Given the description of an element on the screen output the (x, y) to click on. 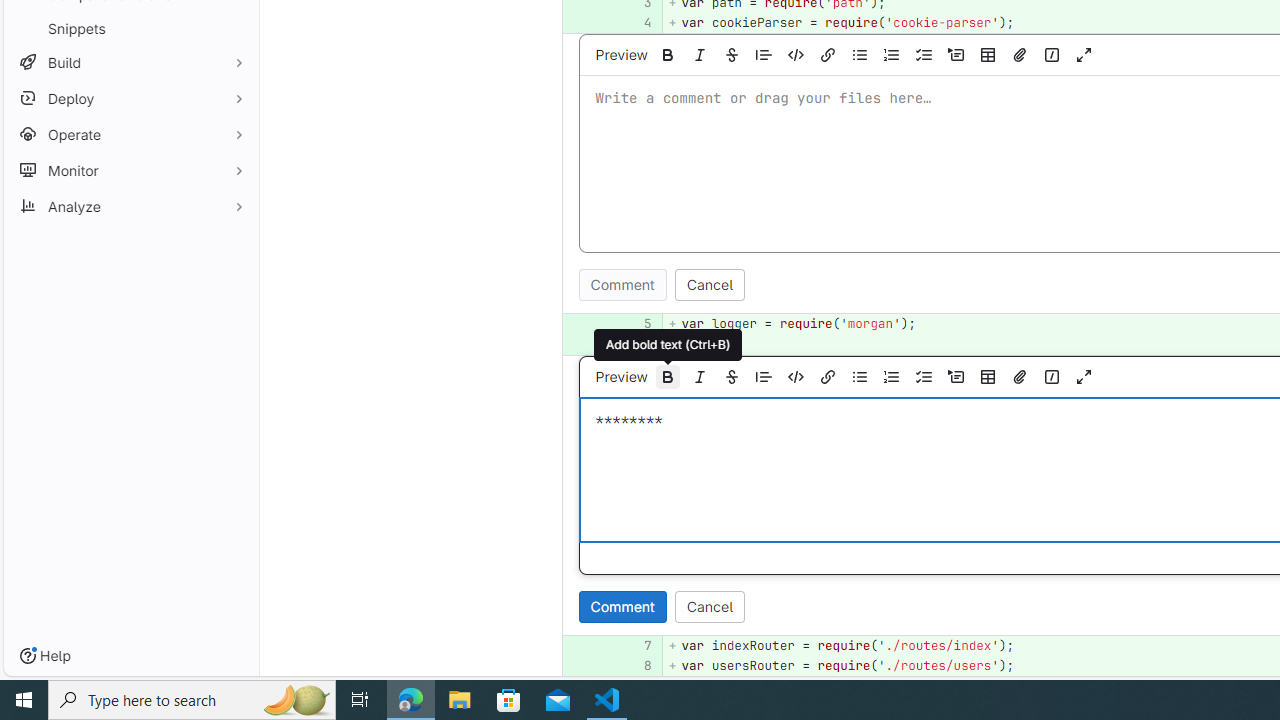
Snippets (130, 28)
4 (633, 22)
